Given the description of an element on the screen output the (x, y) to click on. 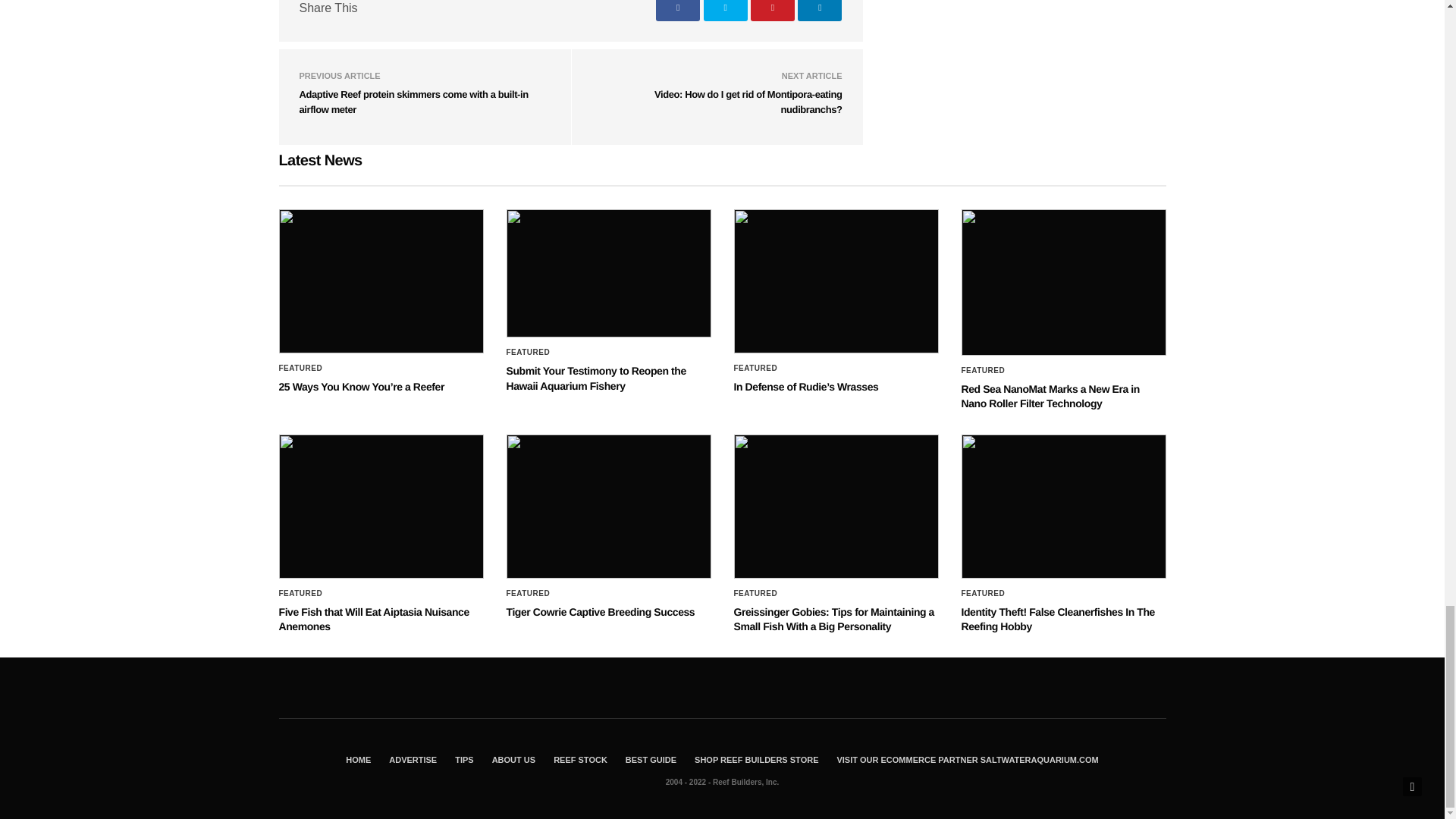
Featured (301, 368)
Submit Your Testimony to Reopen the Hawaii Aquarium Fishery (608, 273)
Submit Your Testimony to Reopen the Hawaii Aquarium Fishery (595, 378)
Video: How do I get rid of Montipora-eating nudibranchs? (747, 101)
Featured (528, 352)
